Given the description of an element on the screen output the (x, y) to click on. 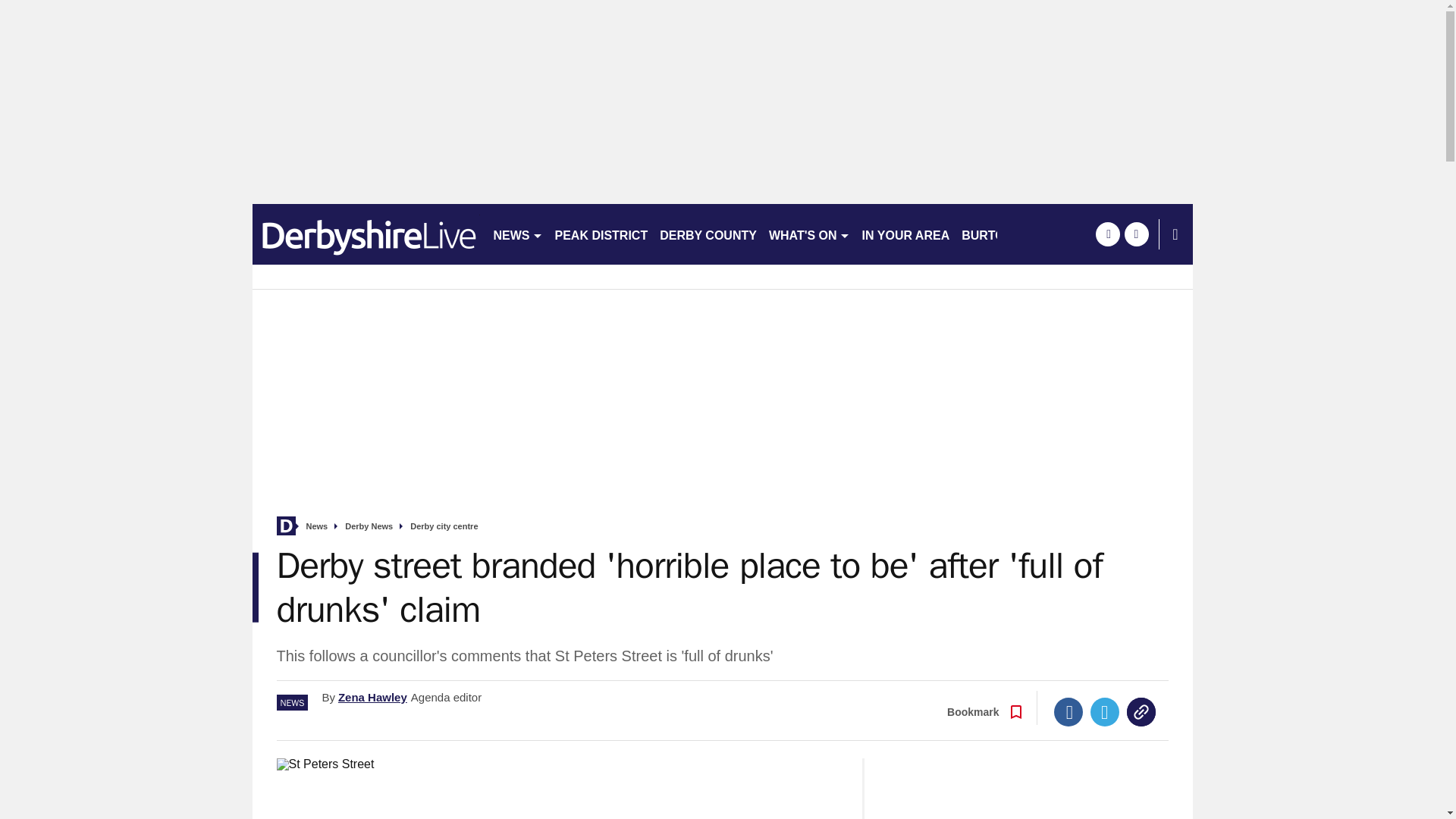
Facebook (1068, 711)
PEAK DISTRICT (600, 233)
IN YOUR AREA (906, 233)
facebook (1106, 233)
BURTONLIVE (1000, 233)
Twitter (1104, 711)
NEWS (517, 233)
DERBY COUNTY (707, 233)
twitter (1136, 233)
derbytelegraph (365, 233)
WHAT'S ON (809, 233)
